Given the description of an element on the screen output the (x, y) to click on. 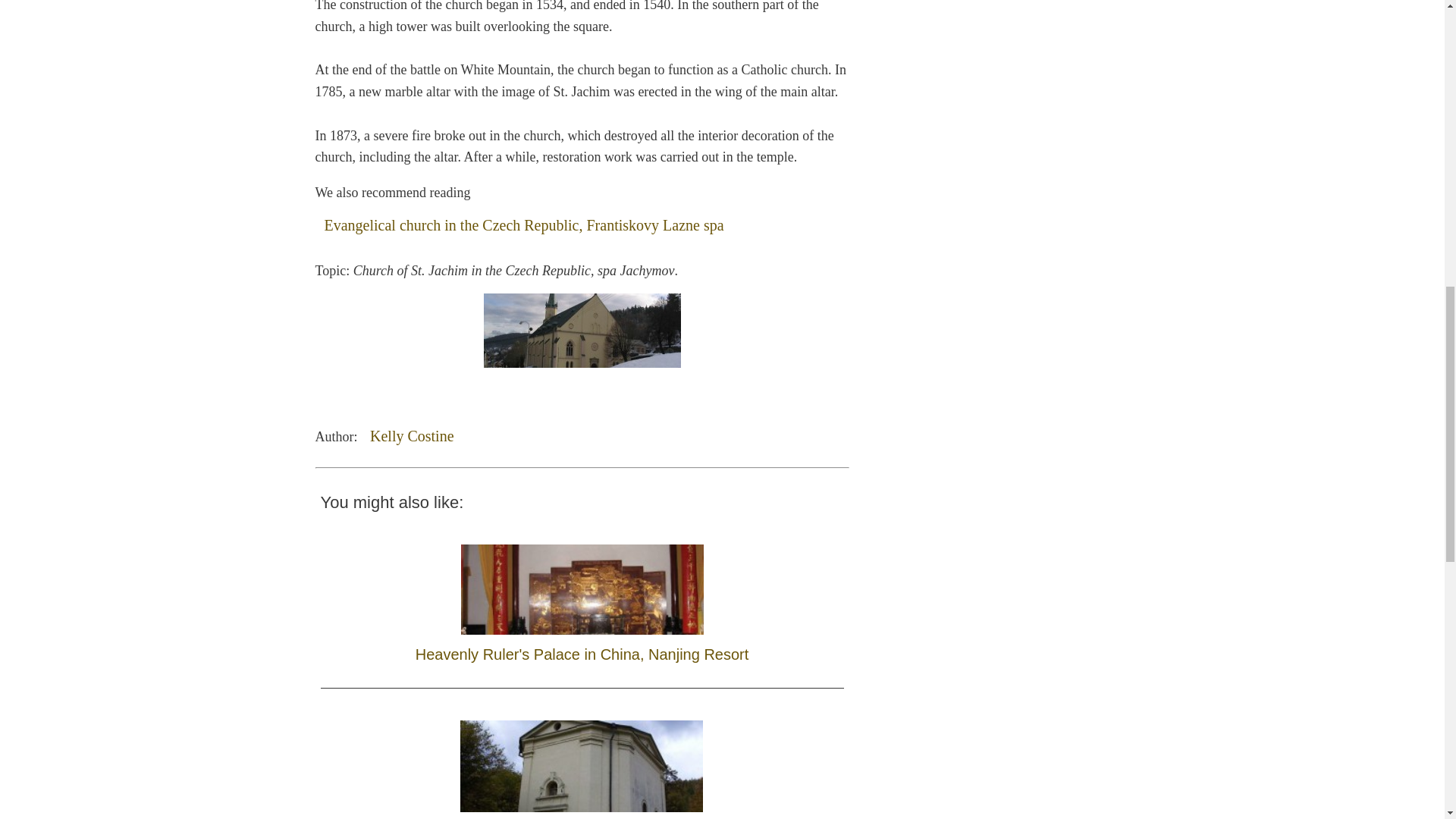
St. Anne's Church in the Czech Republic, Jachymov spa (582, 761)
Kelly Costine (412, 435)
Heavenly Ruler's Palace in China, Nanjing Resort (582, 599)
